Given the description of an element on the screen output the (x, y) to click on. 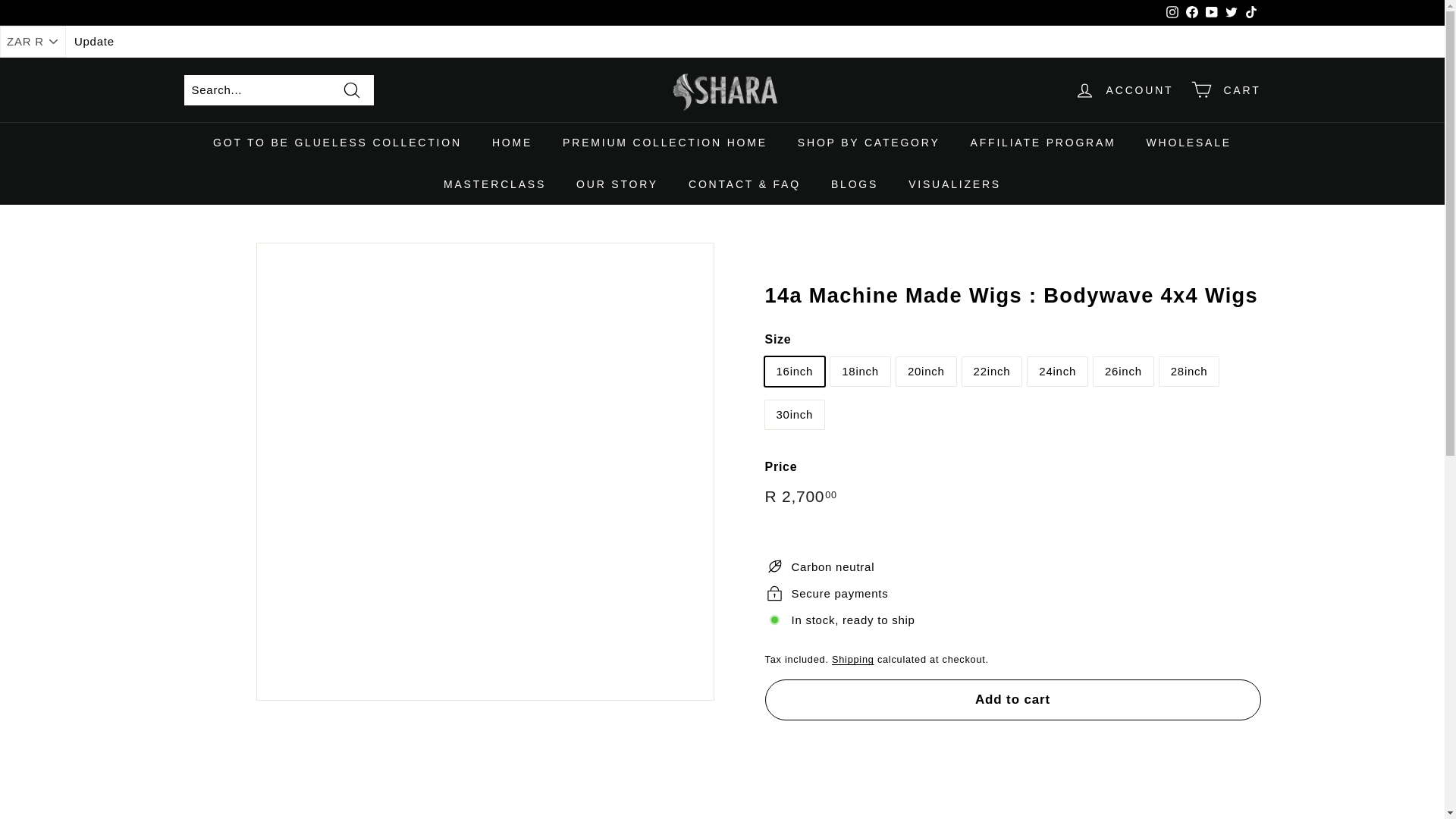
OUR STORY (616, 183)
WHOLESALE (1188, 142)
ACCOUNT (1123, 89)
SHOP BY CATEGORY (869, 142)
AFFILIATE PROGRAM (1043, 142)
MASTERCLASS (494, 183)
GOT TO BE GLUELESS COLLECTION (337, 142)
Update (94, 41)
